Given the description of an element on the screen output the (x, y) to click on. 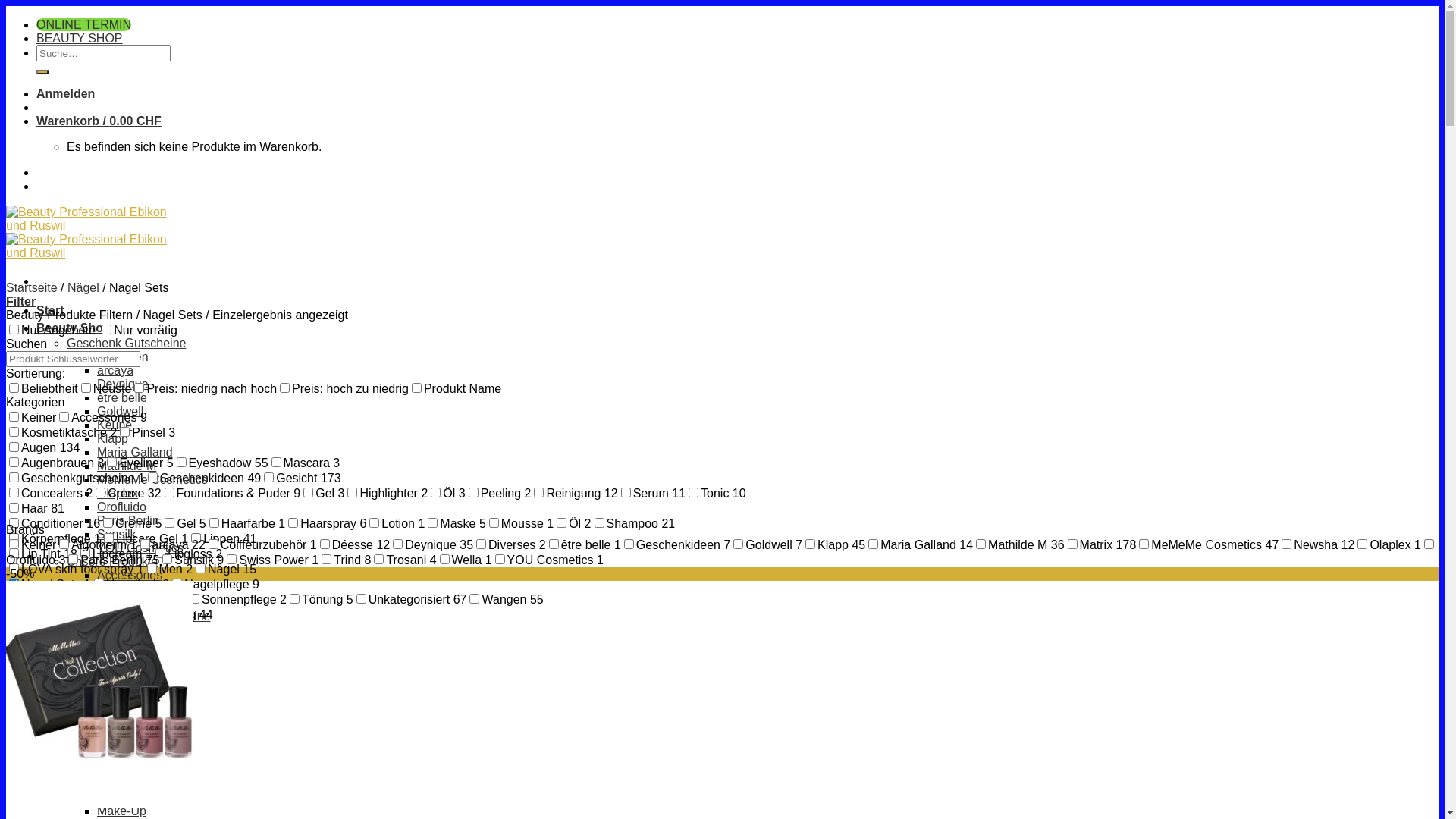
MeMeMe Cosmetics Element type: text (152, 479)
Suche Element type: text (42, 71)
Filter Element type: text (20, 300)
Make-Up Element type: text (121, 810)
Maria Galland Element type: text (134, 451)
Mathilde M Element type: text (126, 465)
BEAUTY SHOP Element type: text (79, 37)
Body Sugaring Element type: text (136, 783)
Gesicht Element type: text (117, 643)
Sunsilk Element type: text (116, 533)
Lippen Element type: text (115, 670)
Keune Element type: text (114, 424)
Accessories Element type: text (129, 574)
Haarentfernung Element type: text (108, 755)
Make Up Element type: text (90, 796)
Startseite Element type: text (31, 287)
Anmelden Element type: text (65, 93)
Paris Berlin Element type: text (128, 520)
Orofluido Element type: text (121, 506)
Beauty Professional Ebikon und Ruswil - Esther Winiger Element type: hover (94, 239)
Beauty Shop Element type: text (73, 327)
Haar Element type: text (110, 656)
Pflegespray Element type: text (129, 697)
Unsere Produkte Element type: text (111, 561)
Augen Element type: text (114, 588)
YOU Cosmetics Element type: text (140, 547)
Olaplex Element type: text (117, 492)
Angebot Element type: text (60, 740)
Beauty Marken Element type: text (107, 356)
Skip to content Element type: text (5, 5)
arcaya Element type: text (115, 370)
Wangen Element type: text (119, 711)
ONLINE TERMIN Element type: text (83, 24)
Geschenkideen Element type: text (139, 629)
Laser mit IPL Element type: text (132, 769)
Start Element type: text (49, 310)
Geschenkgutscheine Element type: text (153, 615)
Klapp Element type: text (112, 438)
Warenkorb / 0.00 CHF Element type: text (98, 120)
Goldwell Element type: text (120, 410)
Geschenk Gutscheine Element type: text (125, 342)
Deynique Element type: text (122, 383)
